Given the description of an element on the screen output the (x, y) to click on. 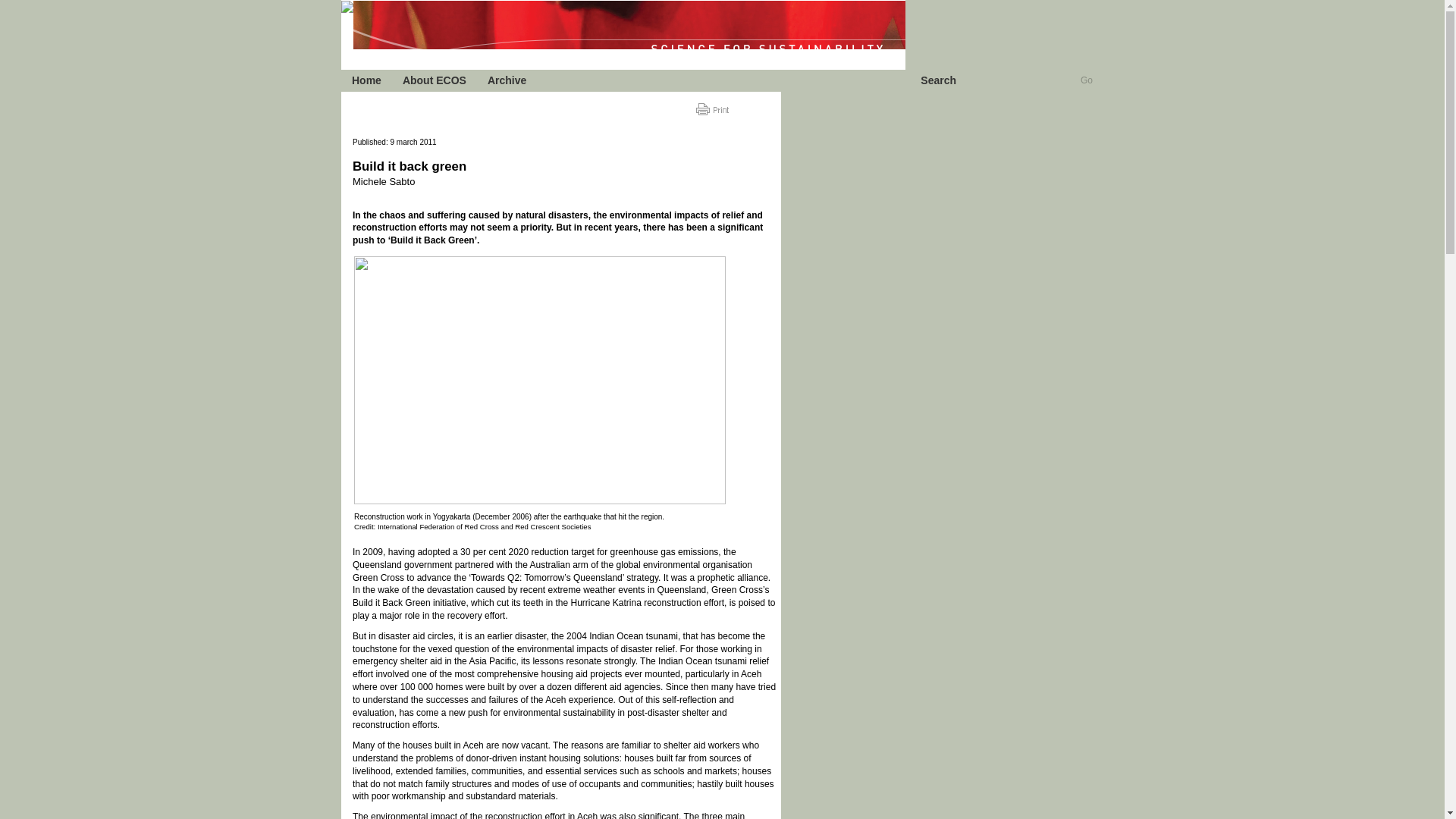
Archive (507, 80)
Home (365, 80)
Go (1086, 79)
Return to Ecos Home (346, 6)
About ECOS (434, 80)
Go (1086, 79)
